Given the description of an element on the screen output the (x, y) to click on. 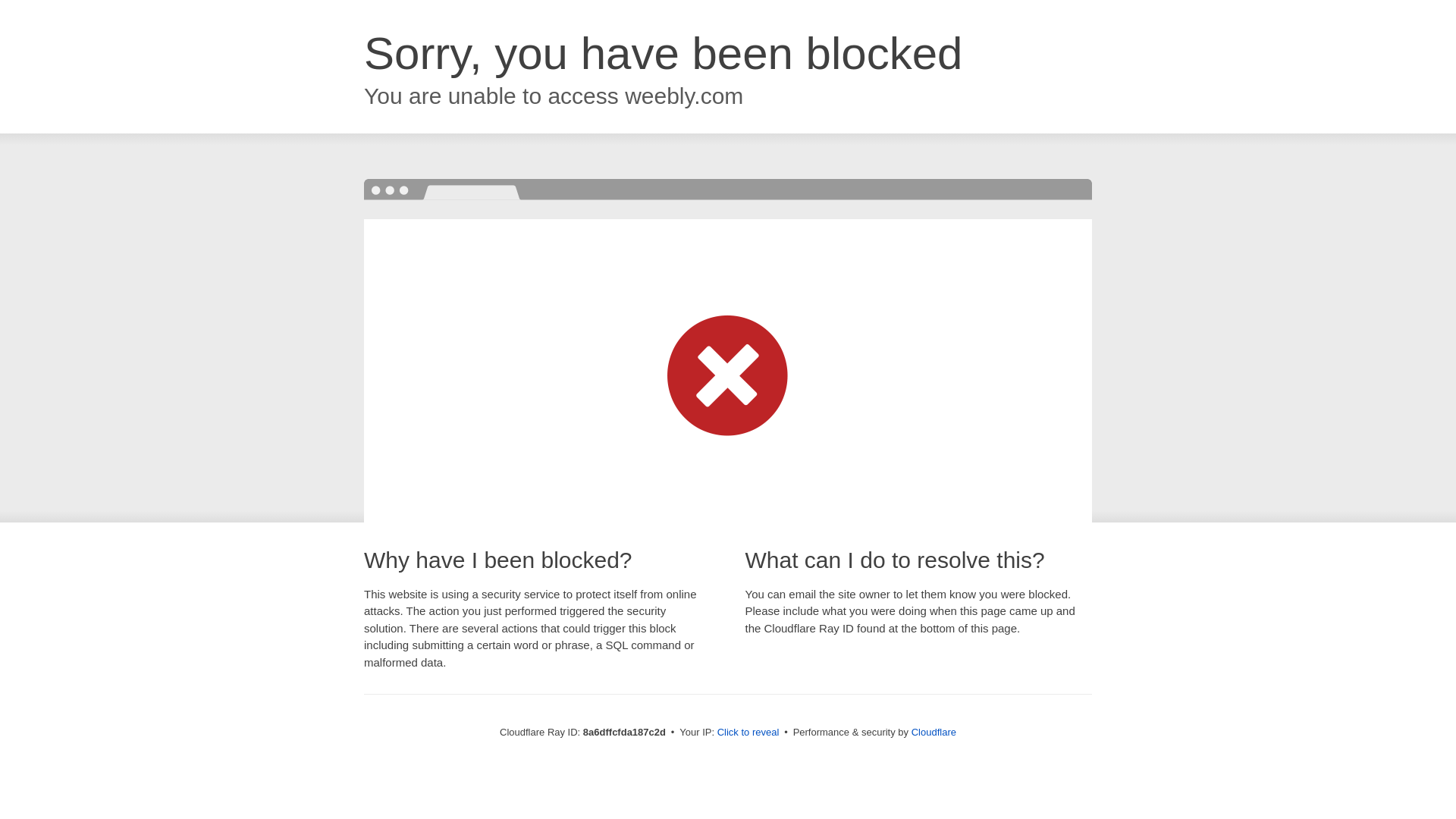
Cloudflare (933, 731)
Click to reveal (747, 732)
